Given the description of an element on the screen output the (x, y) to click on. 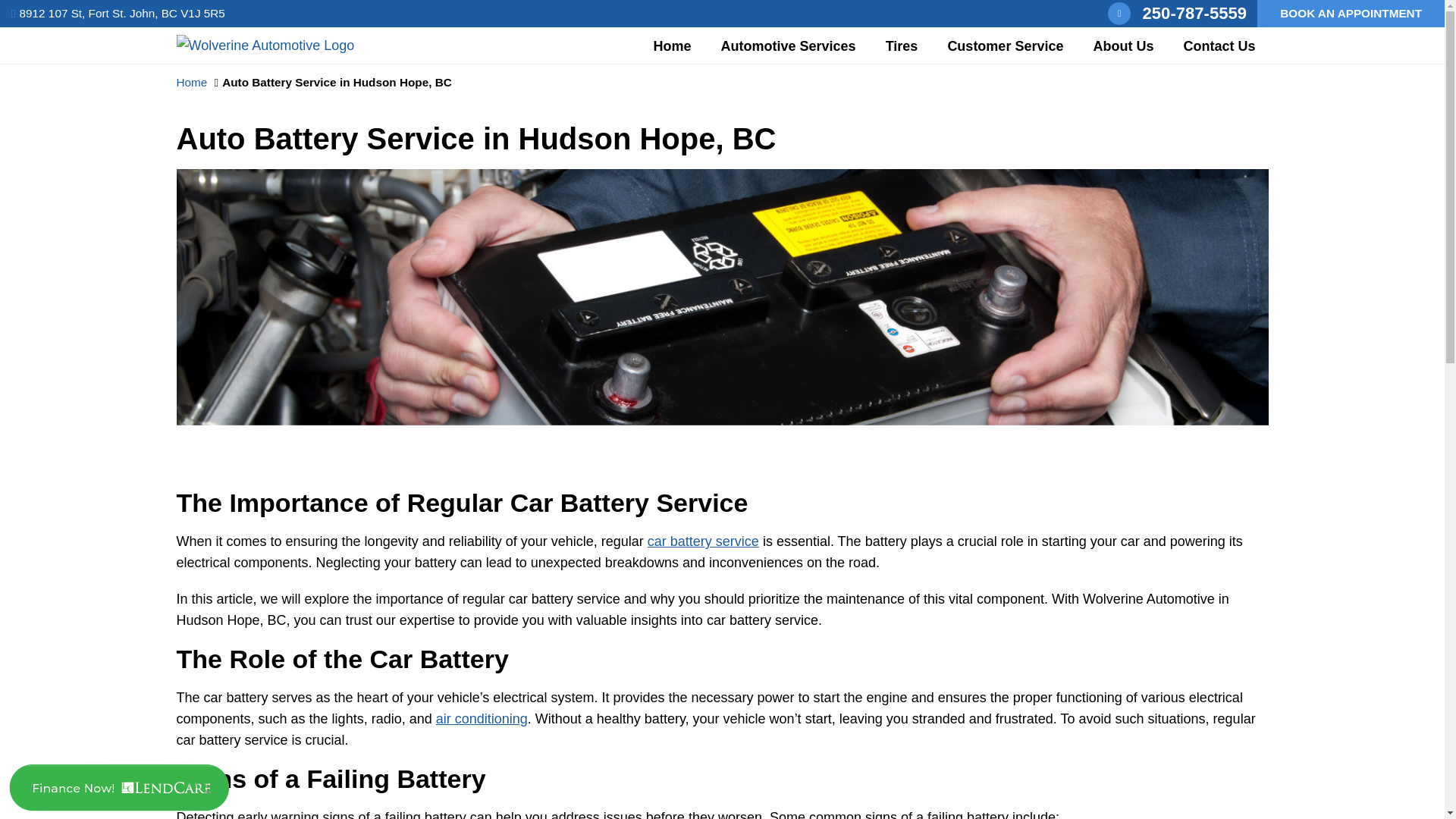
Wolverine Automotive (264, 45)
BOOK AN APPOINTMENT (1350, 13)
Home (191, 82)
Go to Wolverine Automotive. (191, 82)
air conditioning (481, 718)
Customer Service (1004, 46)
Contact Us (1219, 46)
Tires (901, 46)
Home (672, 46)
Automotive Services (788, 46)
